Given the description of an element on the screen output the (x, y) to click on. 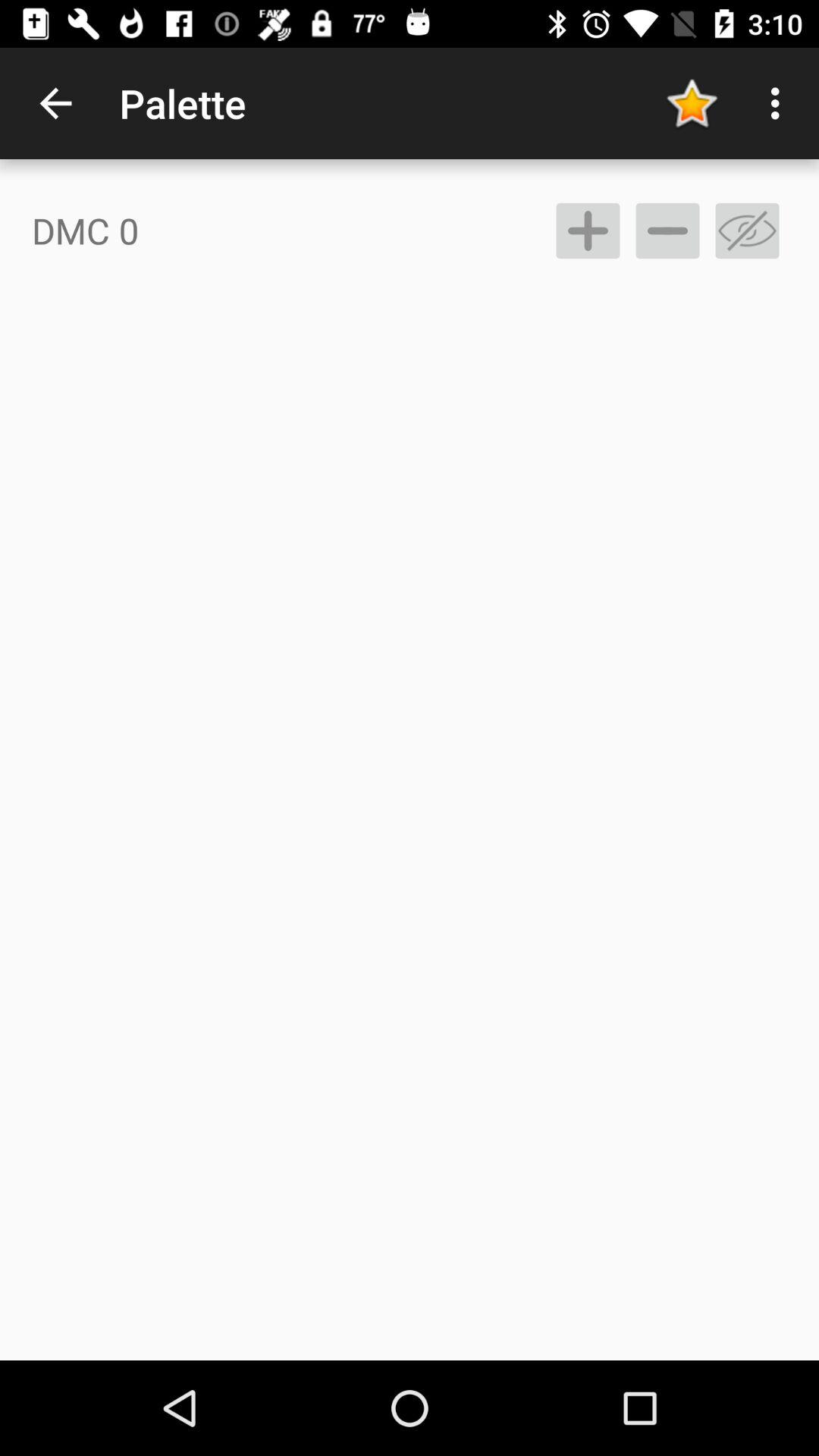
select the item next to dmc 0 item (587, 230)
